Given the description of an element on the screen output the (x, y) to click on. 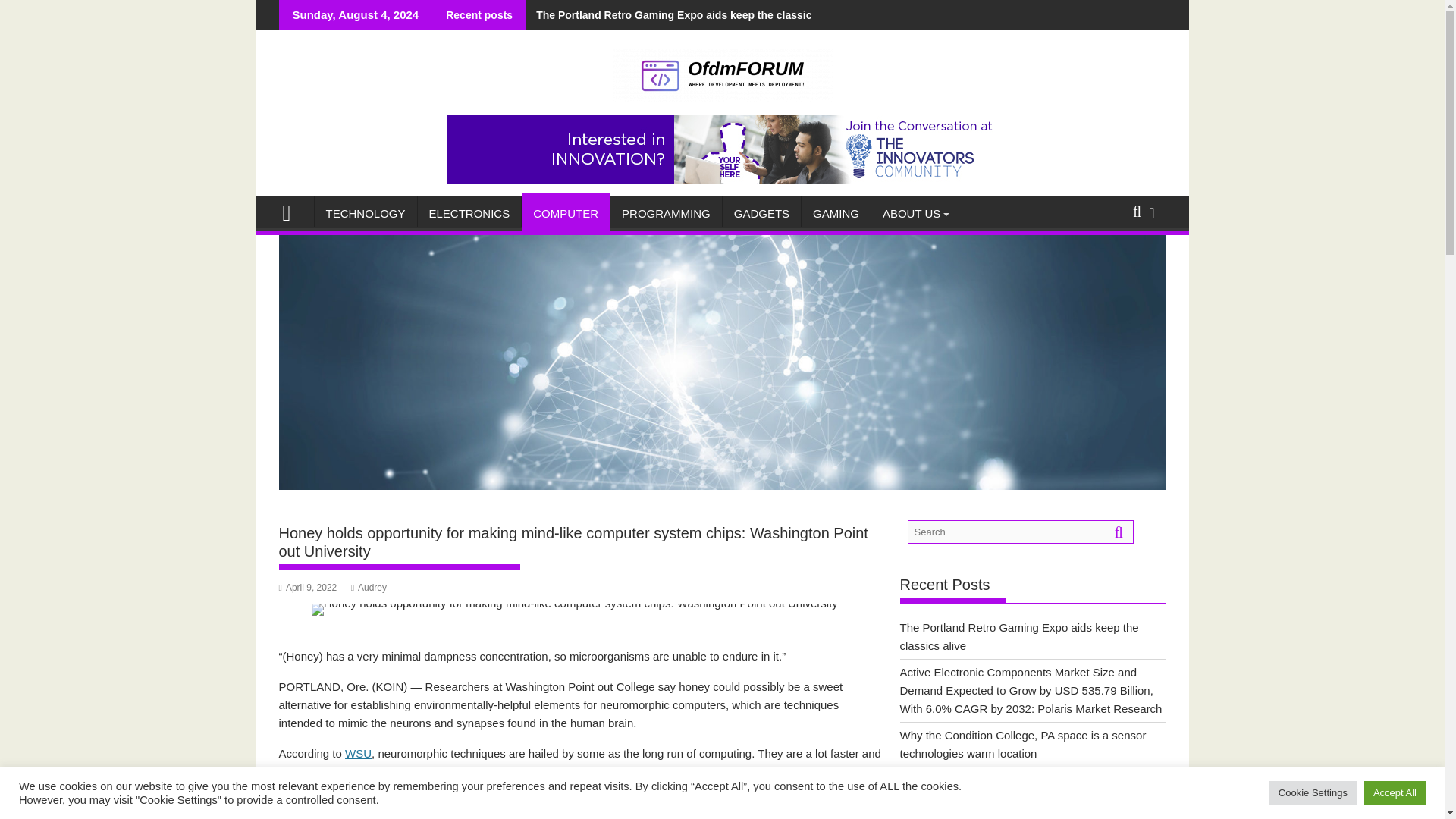
ABOUT US (911, 213)
ELECTRONICS (469, 213)
WSU (358, 753)
COMPUTER (565, 213)
GADGETS (761, 213)
GAMING (836, 213)
TECHNOLOGY (365, 213)
OfdmFORUM (293, 210)
PROGRAMMING (666, 213)
The Portland Retro Gaming Expo aids keep the classics alive (684, 15)
OfdmFORUM (722, 485)
April 9, 2022 (308, 587)
The Portland Retro Gaming Expo aids keep the classics alive (684, 15)
Audrey (368, 587)
